Given the description of an element on the screen output the (x, y) to click on. 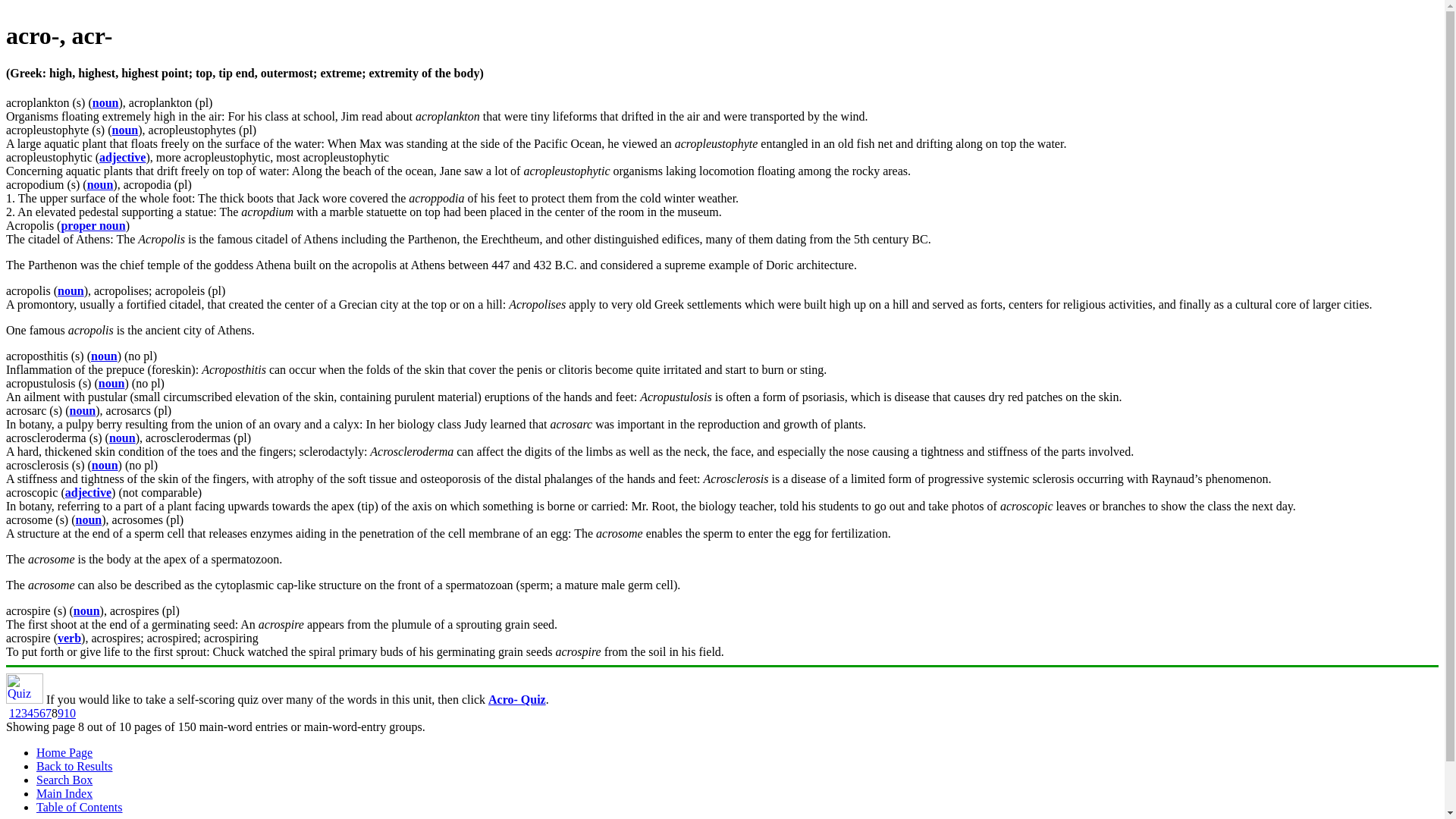
noun (106, 102)
noun (104, 464)
noun (112, 382)
noun (87, 610)
Main Index (64, 793)
Acro- Quiz (516, 698)
noun (88, 519)
adjective (122, 156)
noun (82, 410)
10 (69, 712)
noun (71, 290)
noun (100, 184)
proper noun (93, 225)
noun (103, 355)
Back to Results (74, 766)
